Given the description of an element on the screen output the (x, y) to click on. 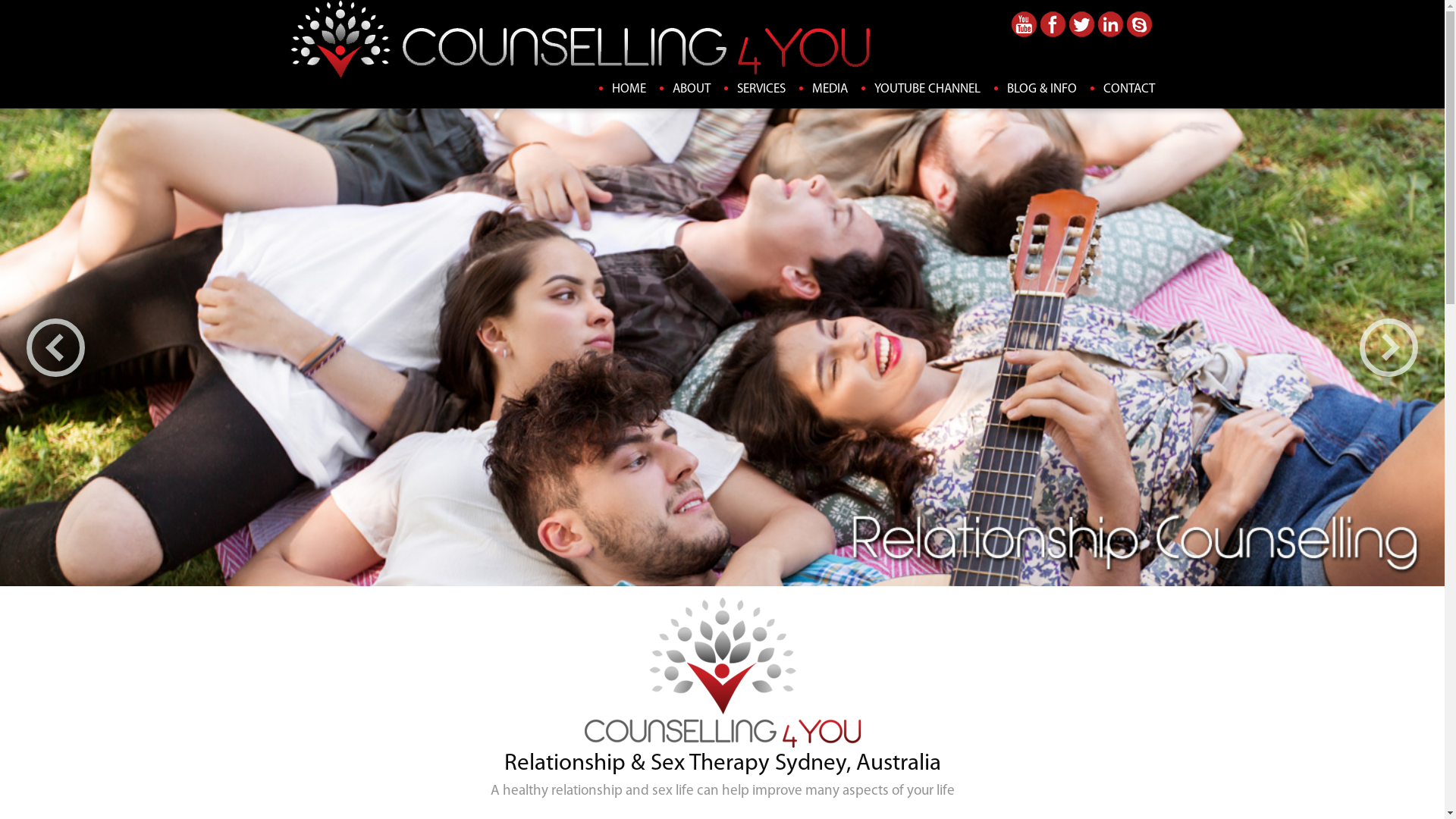
BLOG & INFO Element type: text (1041, 88)
ABOUT Element type: text (690, 88)
SERVICES Element type: text (761, 88)
YOUTUBE CHANNEL Element type: text (926, 88)
HOME Element type: text (628, 88)
CONTACT Element type: text (1128, 88)
MEDIA Element type: text (829, 88)
